Given the description of an element on the screen output the (x, y) to click on. 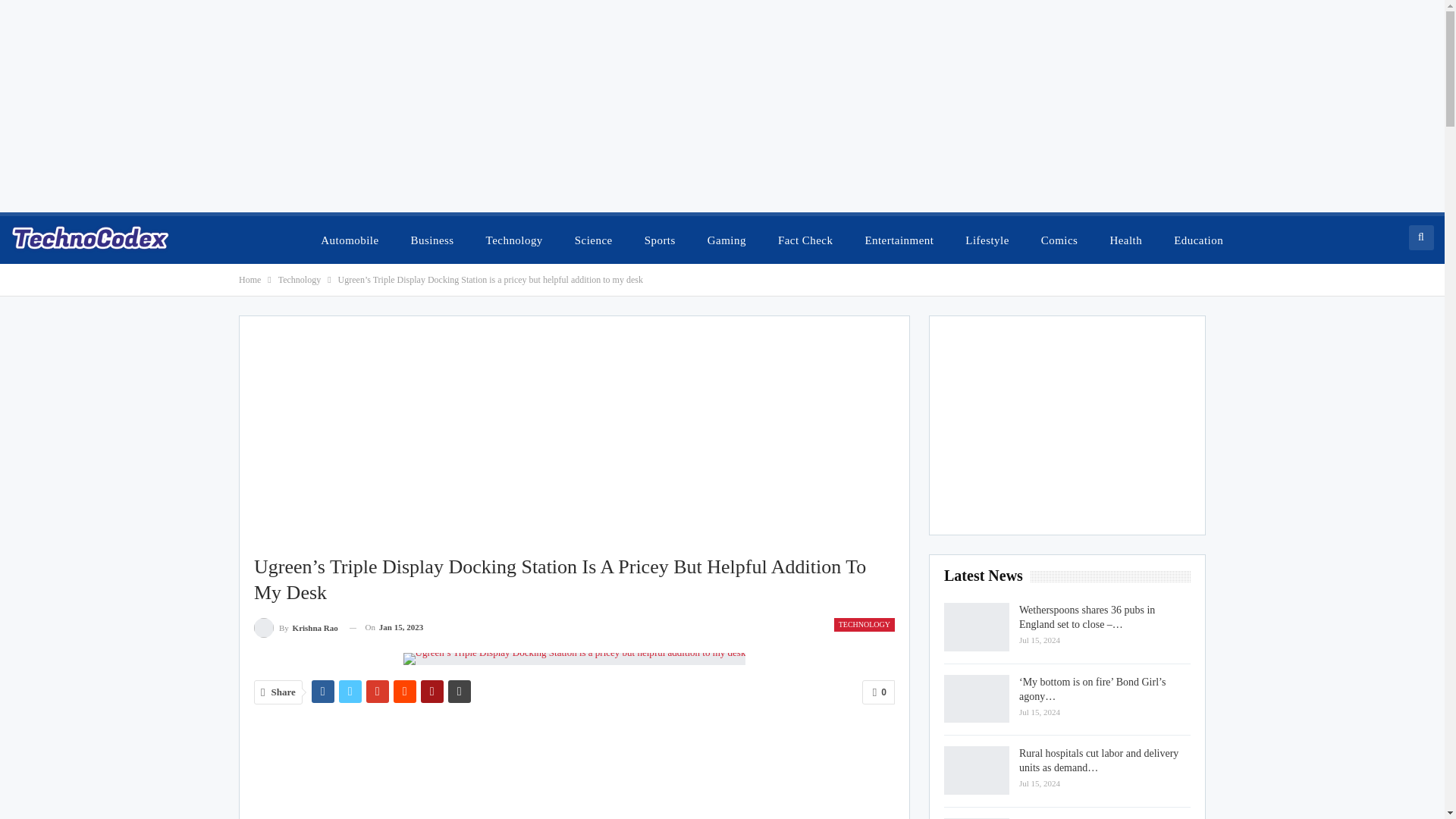
Gaming (726, 239)
Sports (659, 239)
Education (1197, 239)
Business (431, 239)
0 (878, 692)
Browse Author Articles (295, 627)
Technology (514, 239)
Health (1125, 239)
Entertainment (897, 239)
Home (249, 279)
TECHNOLOGY (864, 624)
Technology (299, 279)
Automobile (349, 239)
Science (593, 239)
By Krishna Rao (295, 627)
